Given the description of an element on the screen output the (x, y) to click on. 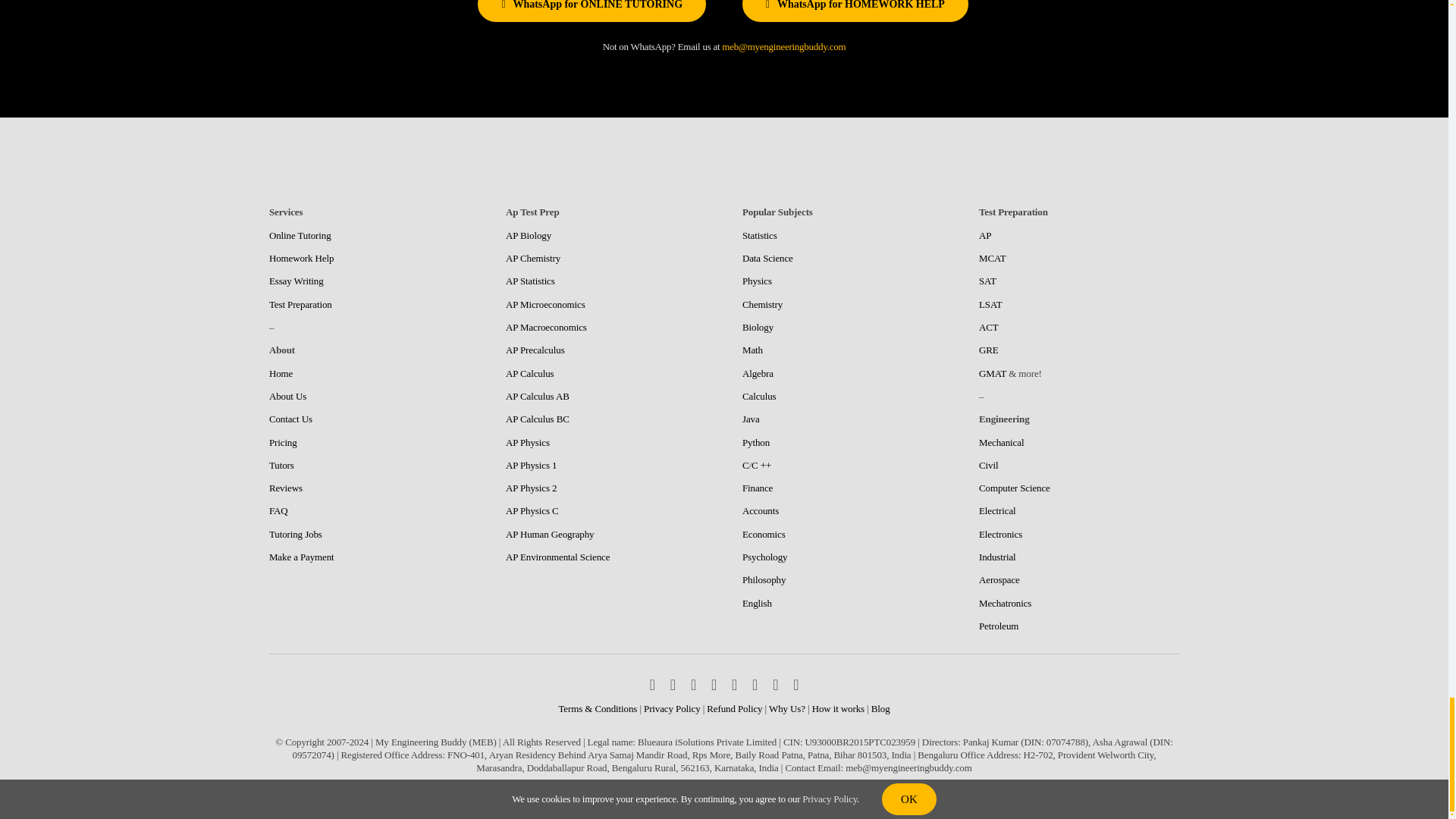
Pricing (283, 441)
Tutoring Jobs (295, 533)
About Us (287, 396)
Test Preparation (300, 304)
Contact Us (291, 419)
Essay Writing (296, 280)
FAQ (278, 510)
Make a Payment (301, 556)
Online Tutoring (300, 235)
Reviews (285, 487)
WhatsApp for ONLINE TUTORING (591, 11)
AP Chemistry (532, 257)
Home (280, 373)
WhatsApp for HOMEWORK HELP (855, 11)
AP Biology (528, 235)
